Given the description of an element on the screen output the (x, y) to click on. 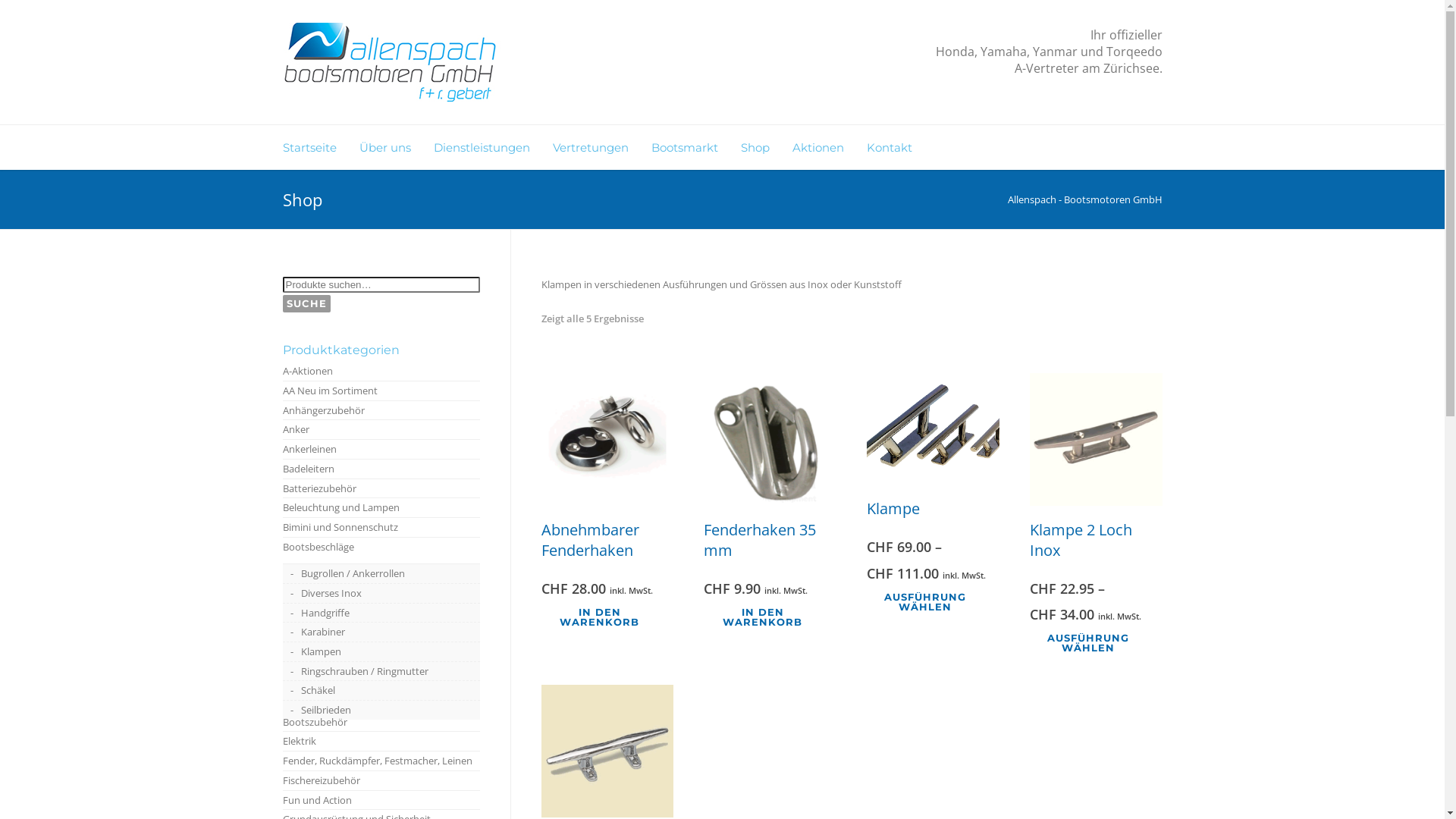
Shop Element type: text (765, 147)
Karabiner Element type: text (380, 631)
Anker Element type: text (380, 429)
Beleuchtung und Lampen Element type: text (380, 507)
Fenderhaken 35 mm
CHF 9.90 inkl. MwSt. Element type: text (769, 487)
Badeleitern Element type: text (380, 468)
Allenspach - Bootsmotoren GmbH Element type: text (1084, 199)
Elektrik Element type: text (380, 740)
Aktionen Element type: text (828, 147)
Vertretungen Element type: text (601, 147)
Kontakt Element type: text (900, 147)
Bimini und Sonnenschutz Element type: text (380, 526)
SUCHE Element type: text (305, 303)
Seilbrieden Element type: text (380, 709)
Ankerleinen Element type: text (380, 448)
Bootsmarkt Element type: text (695, 147)
Klampen Element type: text (380, 651)
Bugrollen / Ankerrollen Element type: text (380, 573)
Dienstleistungen Element type: text (492, 147)
IN DEN WARENKORB Element type: text (607, 617)
Fun und Action Element type: text (380, 799)
Ringschrauben / Ringmutter Element type: text (380, 671)
Search Element type: text (28, 9)
IN DEN WARENKORB Element type: text (769, 617)
Startseite Element type: text (320, 147)
Handgriffe Element type: text (380, 612)
A-Aktionen Element type: text (380, 370)
Diverses Inox Element type: text (380, 592)
AA Neu im Sortiment Element type: text (380, 390)
Abnehmbarer Fenderhaken
CHF 28.00 inkl. MwSt. Element type: text (607, 487)
